Given the description of an element on the screen output the (x, y) to click on. 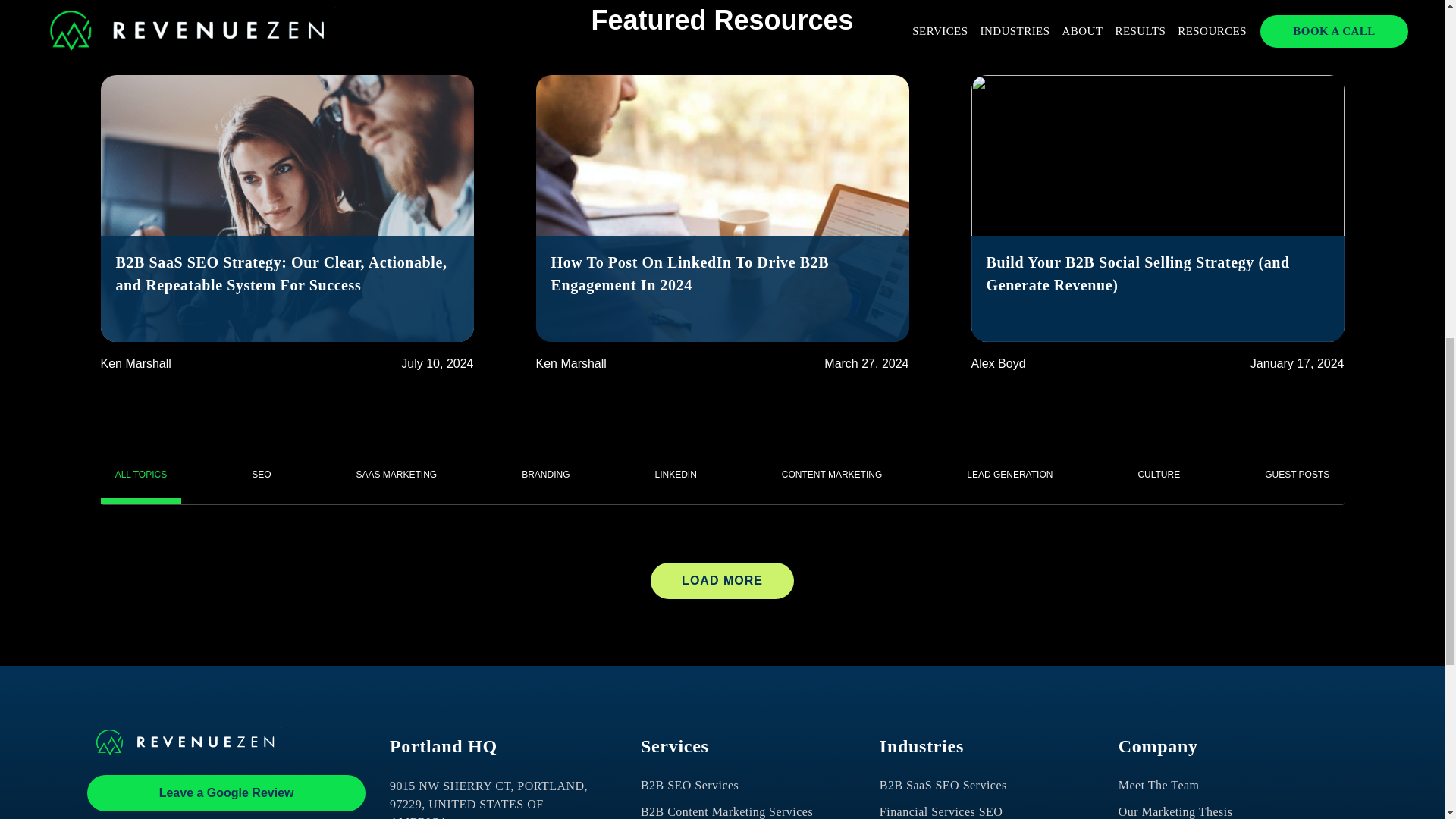
ALL TOPICS (140, 471)
How To Post On LinkedIn To Drive B2B Engagement In 2024 (721, 288)
CONTENT MARKETING (831, 471)
LEAD GENERATION (1009, 471)
SAAS MARKETING (395, 471)
LINKEDIN (675, 471)
SEO (261, 471)
BRANDING (545, 471)
